Given the description of an element on the screen output the (x, y) to click on. 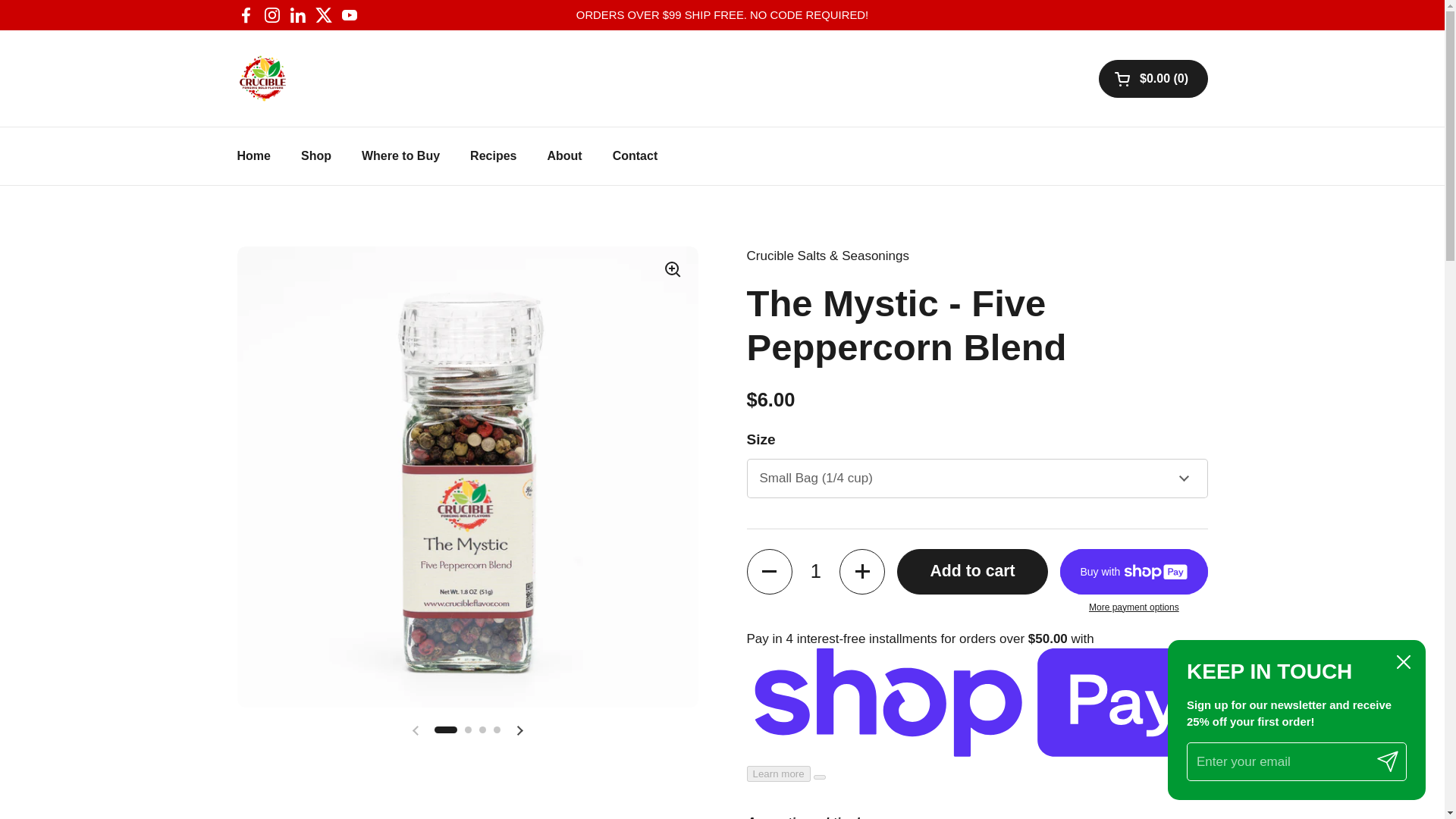
Home (253, 155)
Recipes (492, 155)
Shop (315, 155)
LinkedIn (296, 14)
Home (253, 155)
Where to Buy (400, 155)
Shop (315, 155)
Instagram (271, 14)
Twitter (322, 14)
Open cart (1153, 77)
Facebook (244, 14)
Where to Buy (400, 155)
About (563, 155)
About (563, 155)
